Given the description of an element on the screen output the (x, y) to click on. 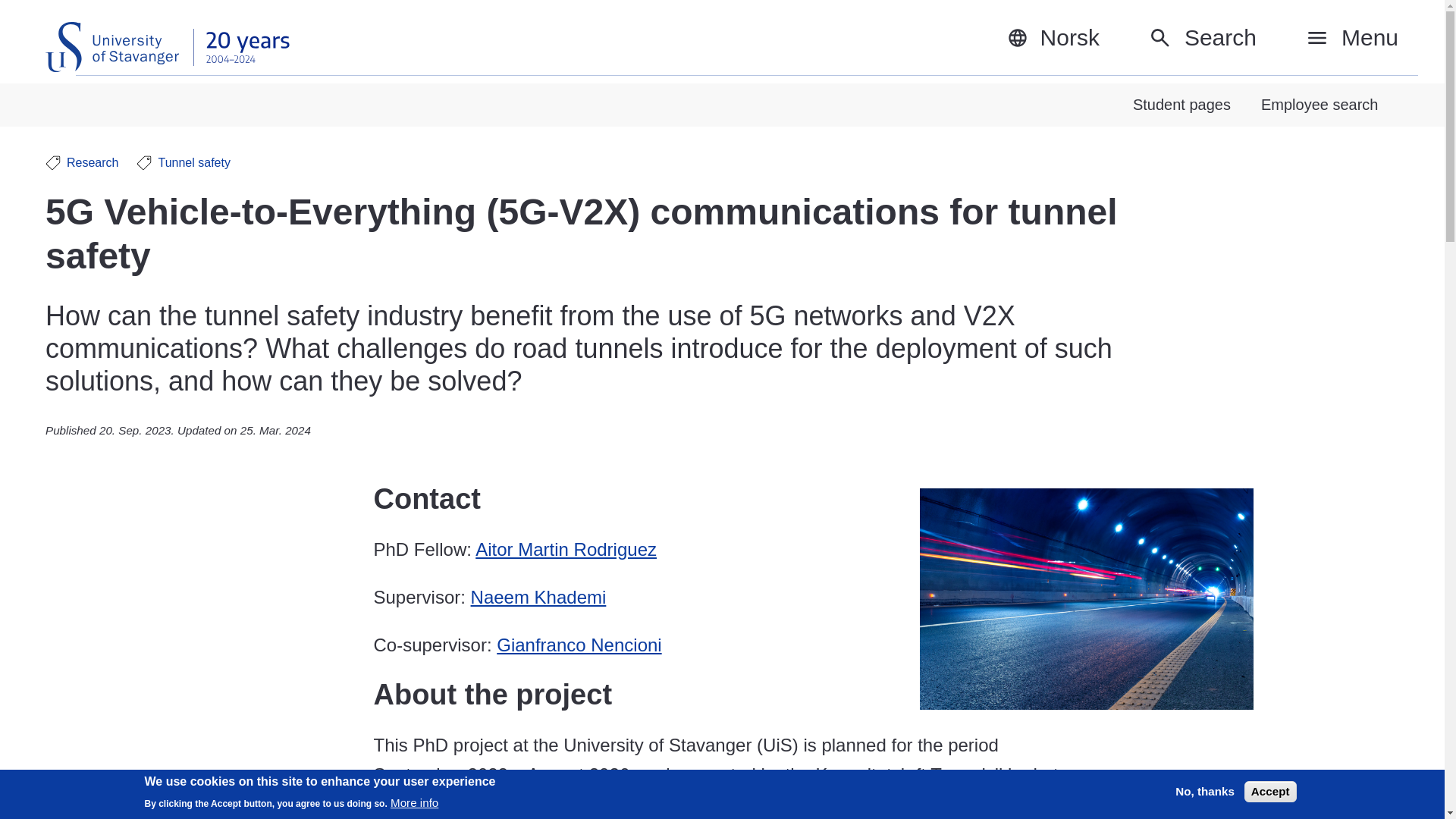
Home (167, 47)
Tunnel safety (183, 162)
Accept (1270, 791)
Aitor Martin Rodriguez (566, 548)
Employee search (1319, 104)
Search (1202, 37)
Research (81, 162)
More info (414, 802)
Link to Home page (167, 47)
